Given the description of an element on the screen output the (x, y) to click on. 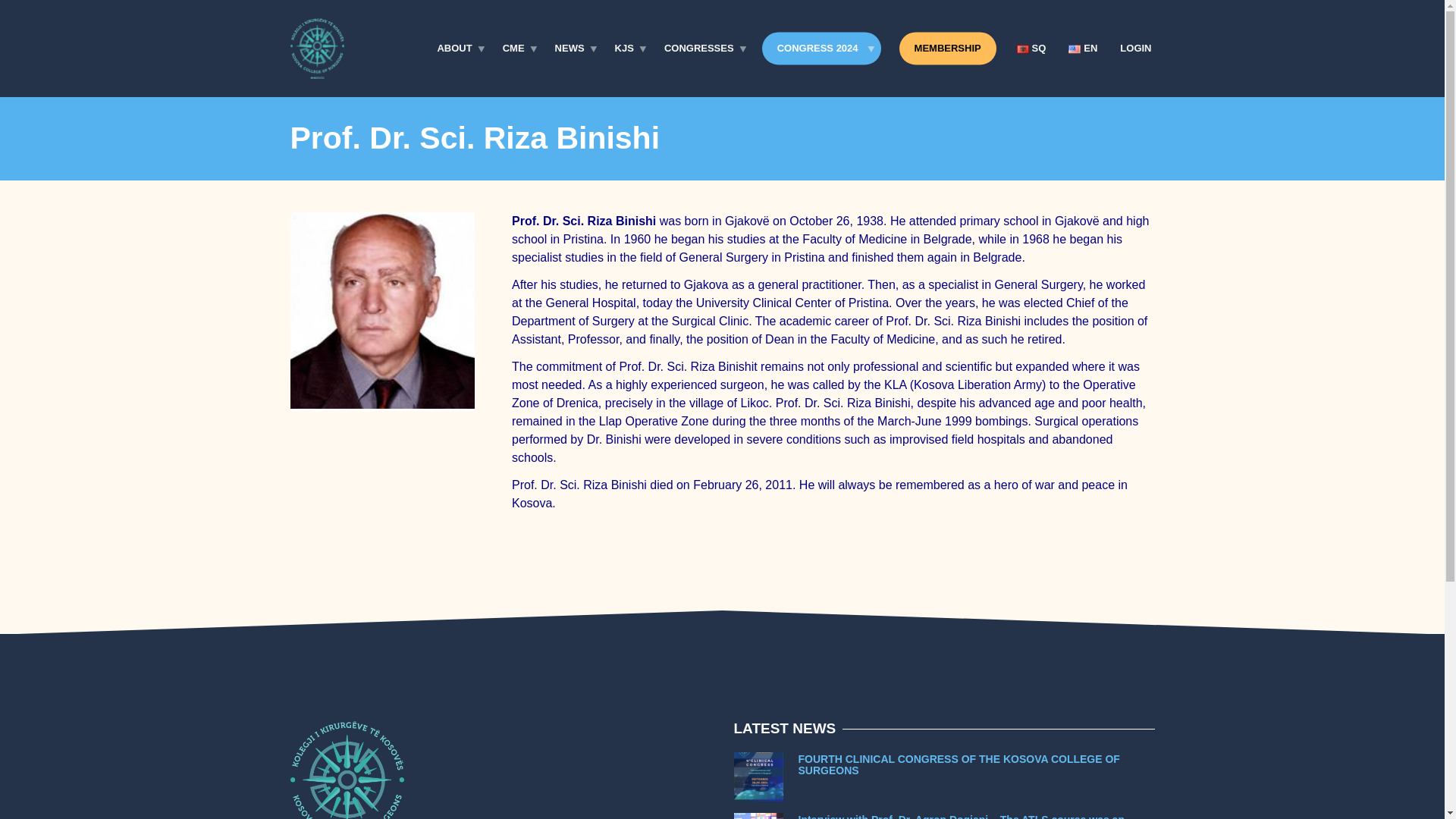
CME (517, 47)
ABOUT (457, 47)
NEWS (573, 47)
CME (517, 47)
About (457, 47)
